Given the description of an element on the screen output the (x, y) to click on. 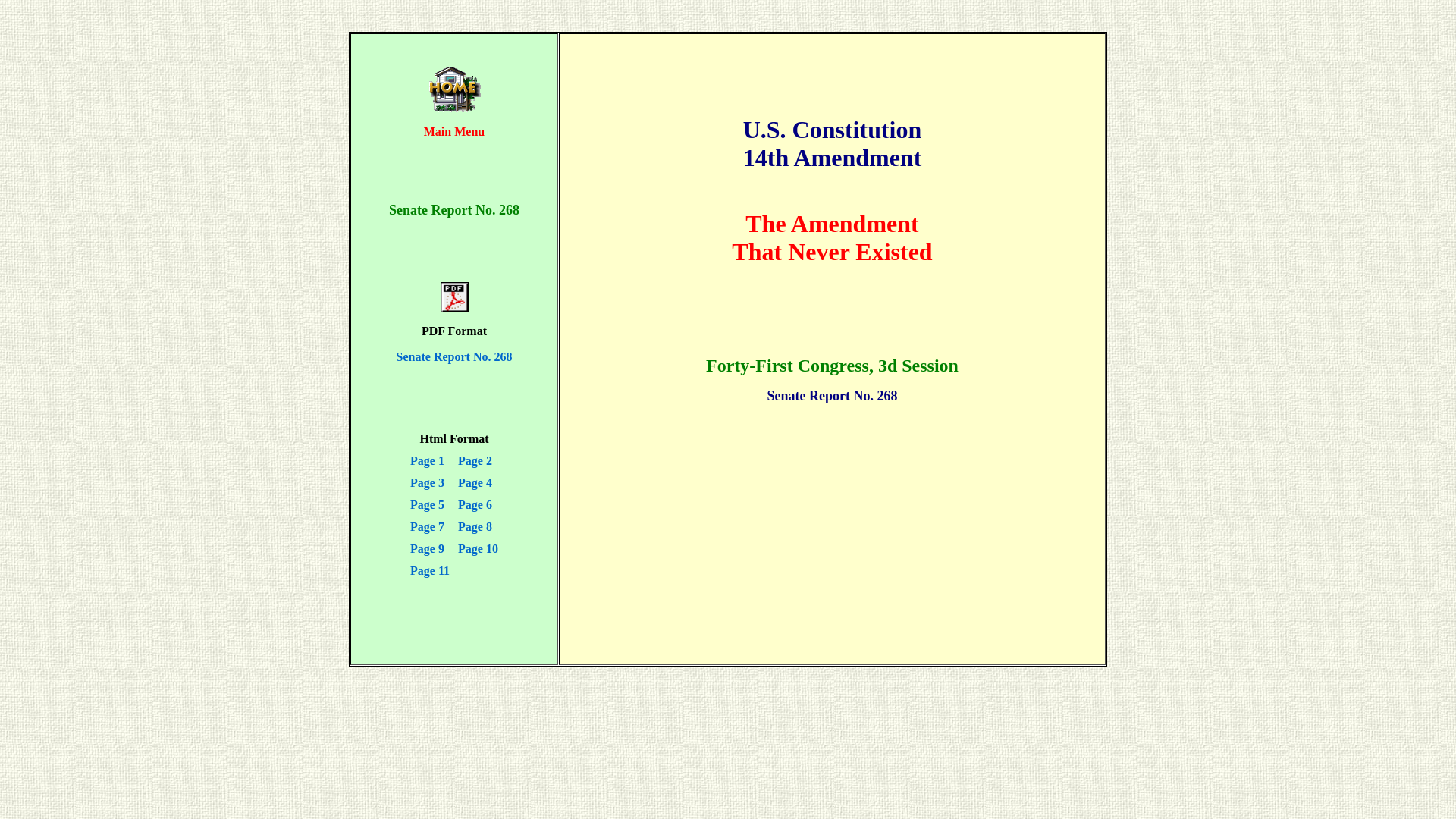
Main Menu Element type: text (453, 131)
Senate Report No. 268 Element type: text (454, 356)
Page 6 Element type: text (475, 504)
Page 10 Element type: text (478, 548)
Page 4 Element type: text (475, 482)
Page 9 Element type: text (427, 548)
Page 5 Element type: text (427, 504)
Page 3 Element type: text (427, 482)
Page 7 Element type: text (427, 526)
Page 2 Element type: text (475, 460)
Page 11 Element type: text (429, 570)
Page 8 Element type: text (475, 526)
Page 1 Element type: text (427, 460)
